Given the description of an element on the screen output the (x, y) to click on. 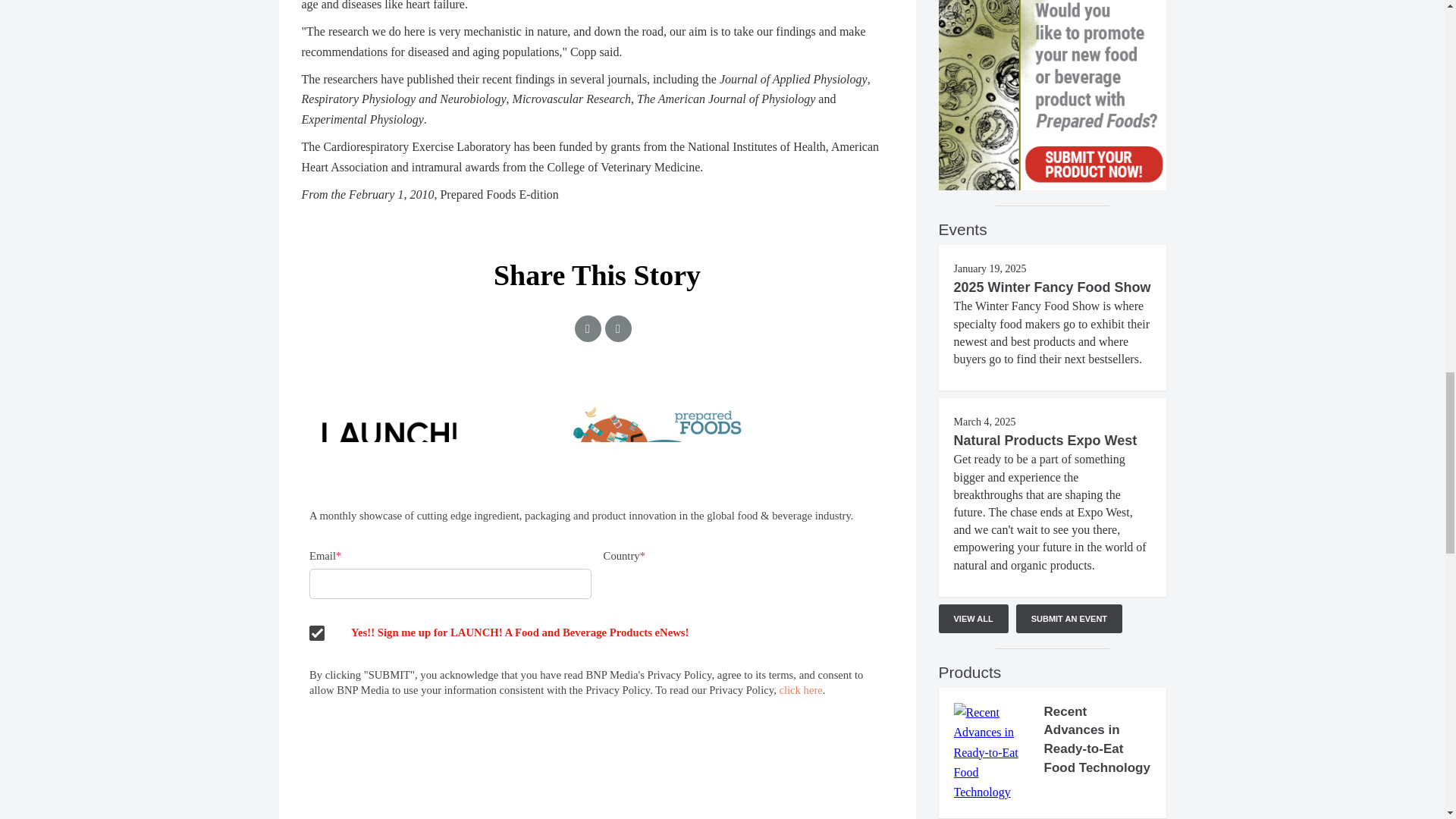
Natural Products Expo West (1045, 440)
2025 Winter Fancy Food Show (1052, 287)
